Given the description of an element on the screen output the (x, y) to click on. 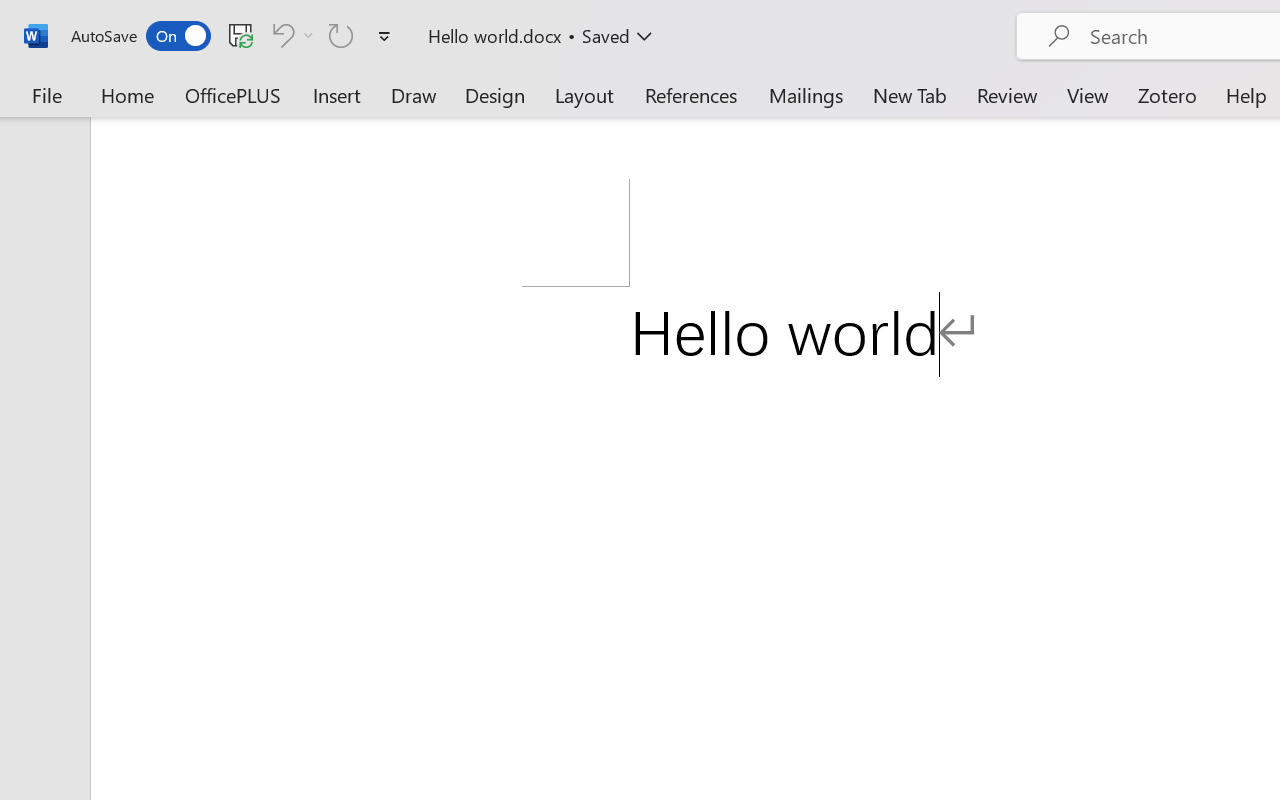
Quick Access Toolbar (233, 36)
Draw (413, 94)
New Tab (909, 94)
More Options (308, 35)
View (1087, 94)
Can't Repeat (341, 35)
Can't Undo (280, 35)
Insert (337, 94)
AutoSave (140, 35)
Save (241, 35)
Zotero (1166, 94)
Home (127, 94)
Review (1007, 94)
OfficePLUS (233, 94)
